Given the description of an element on the screen output the (x, y) to click on. 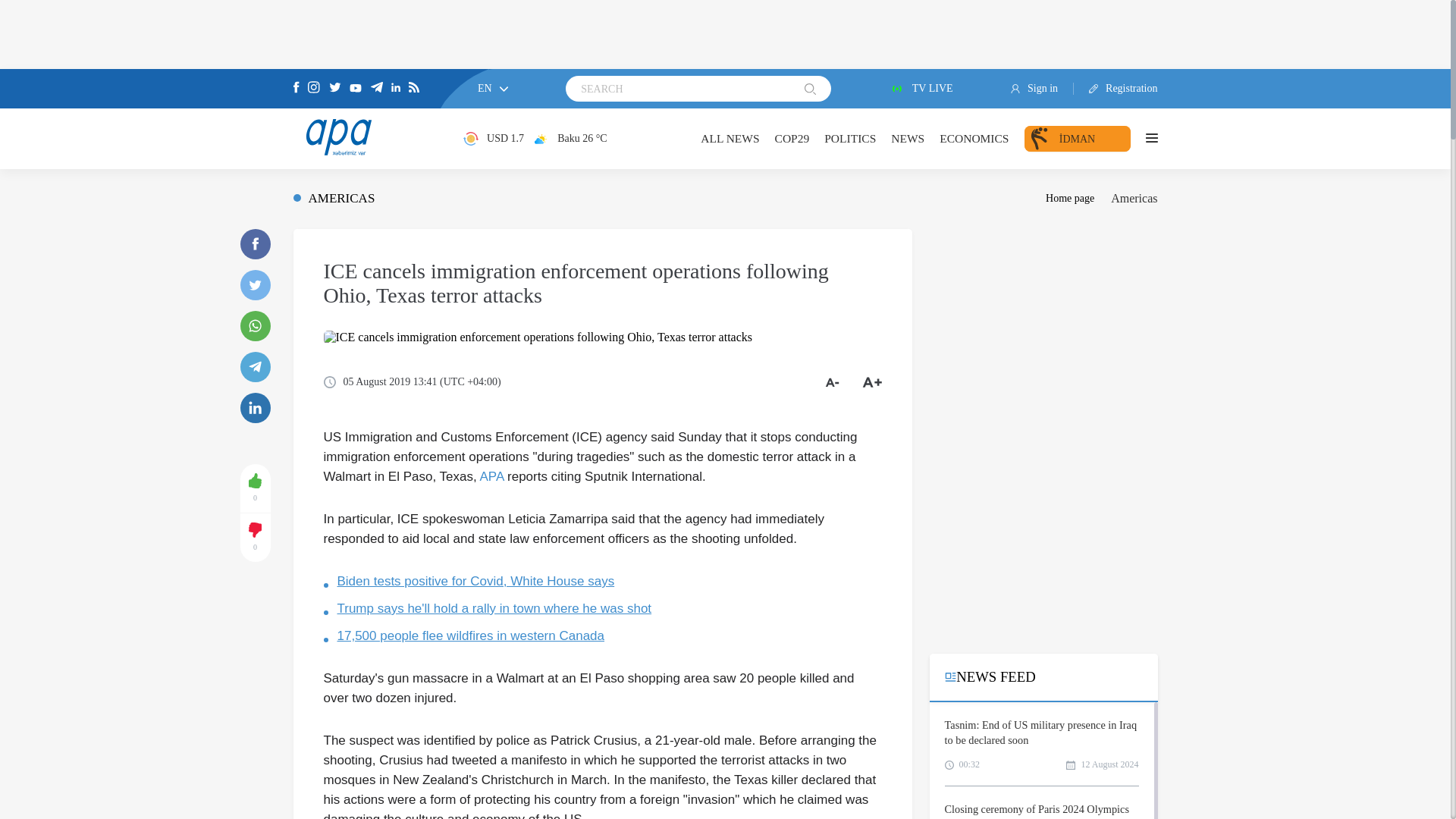
Sign in (1042, 88)
POLITICS (850, 138)
USD 1.7 (493, 138)
Registration (1115, 88)
ECONOMICS (974, 138)
COP29 (791, 138)
NEWS (907, 138)
ALL NEWS (729, 138)
TV LIVE (921, 88)
